Given the description of an element on the screen output the (x, y) to click on. 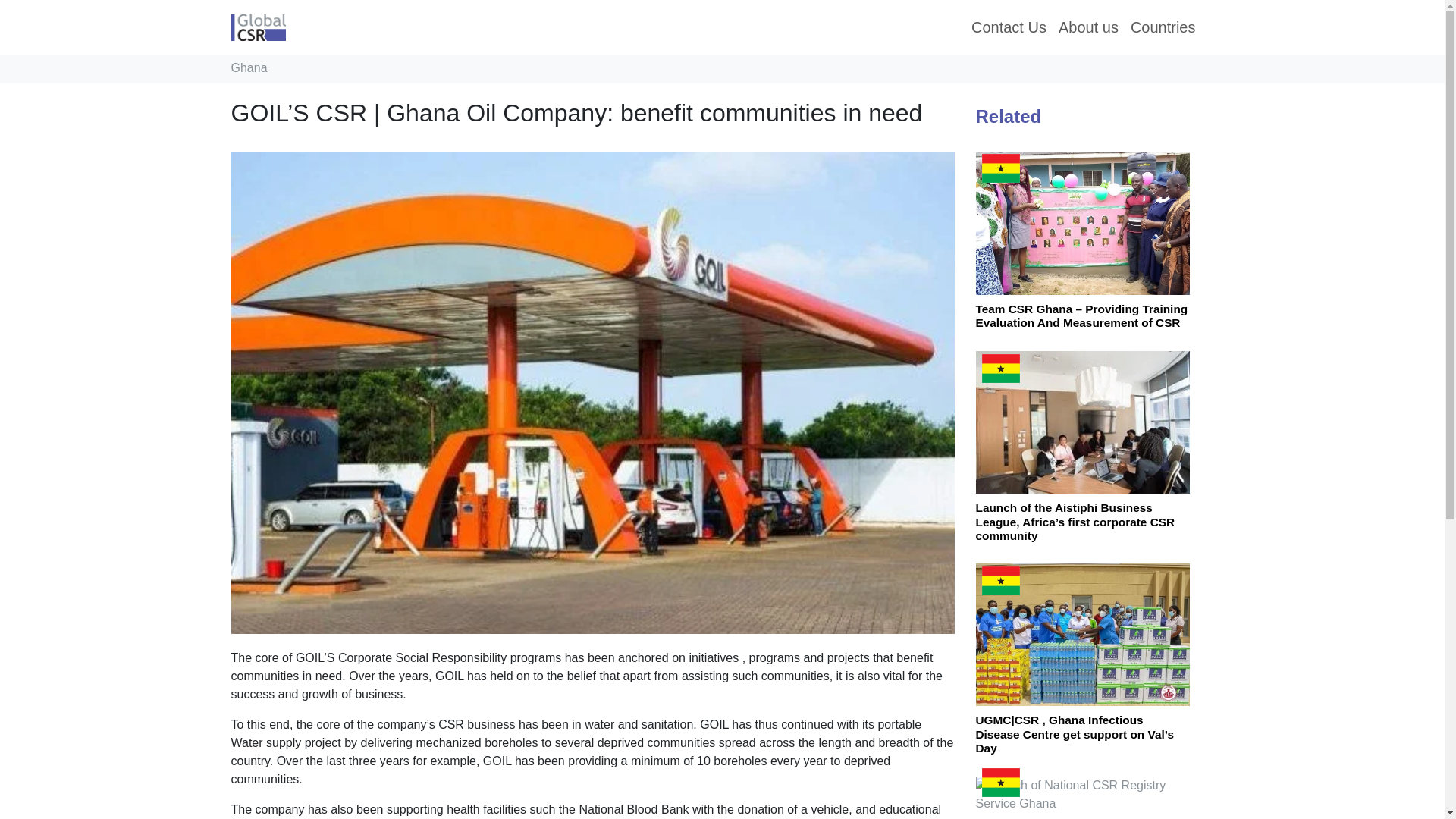
About us (1088, 27)
Countries (1163, 27)
Contact Us (1008, 27)
Ghana (248, 67)
